Given the description of an element on the screen output the (x, y) to click on. 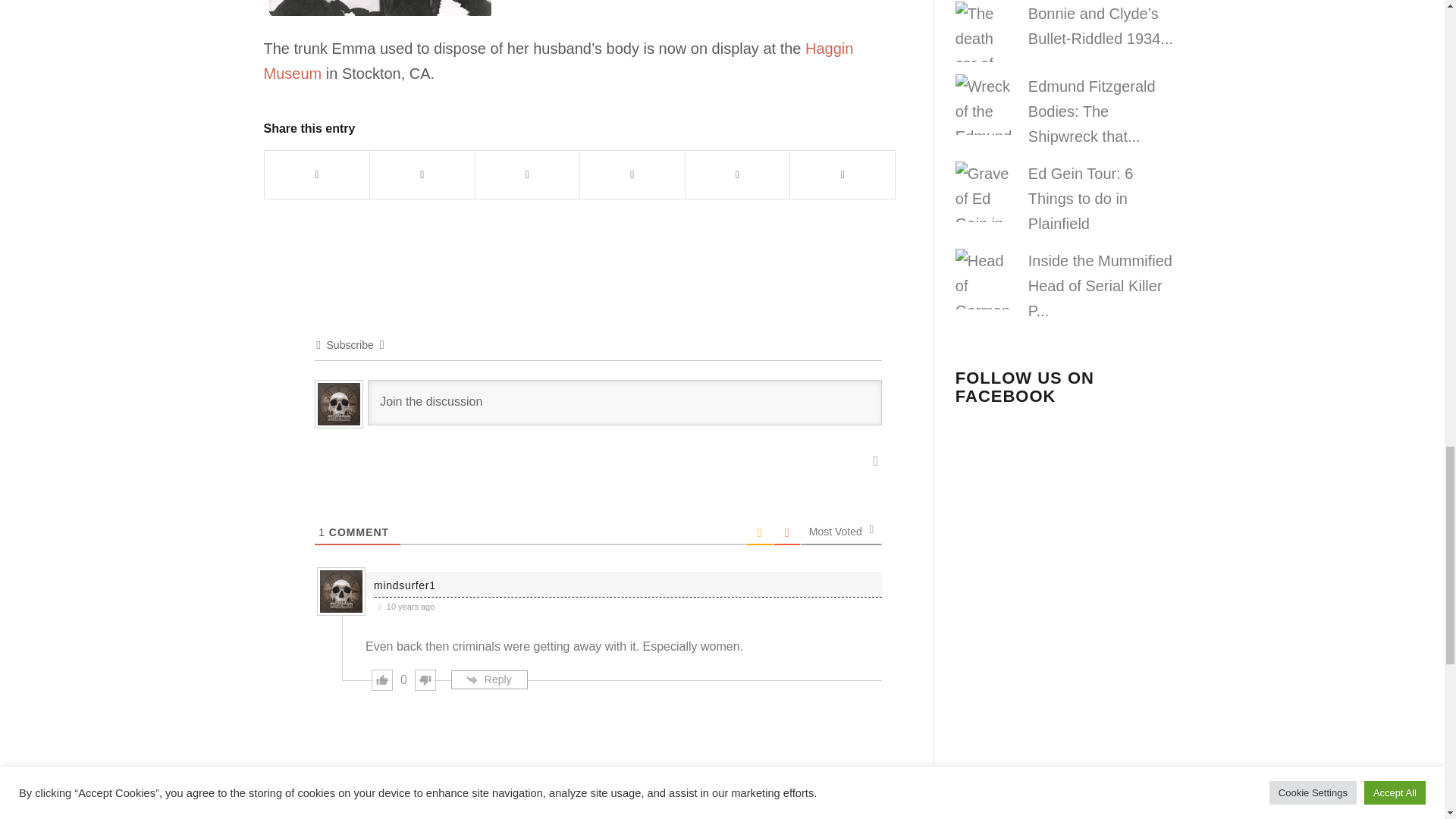
Haggin Museum (558, 60)
mindsurfer1 (404, 585)
